Given the description of an element on the screen output the (x, y) to click on. 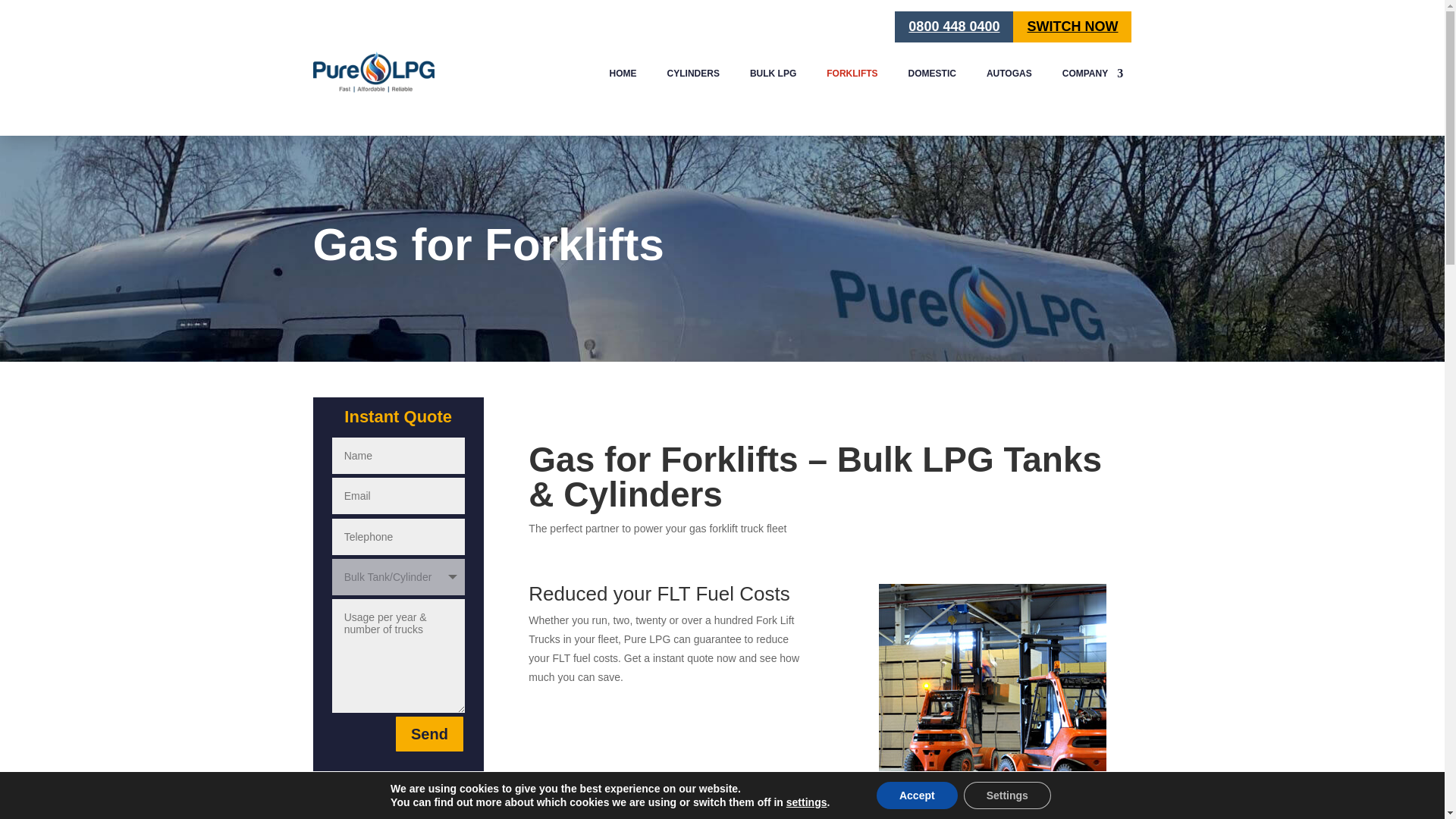
HOME (623, 76)
Pure-LPG-Gas-Logo (373, 69)
Send (429, 733)
Forklift Trucks (991, 697)
COMPANY (1092, 76)
SWITCH NOW (1072, 26)
CYLINDERS (692, 76)
BULK LPG (772, 76)
0800 448 0400 (954, 26)
FORKLIFTS (852, 76)
AUTOGAS (1009, 76)
DOMESTIC (932, 76)
